Given the description of an element on the screen output the (x, y) to click on. 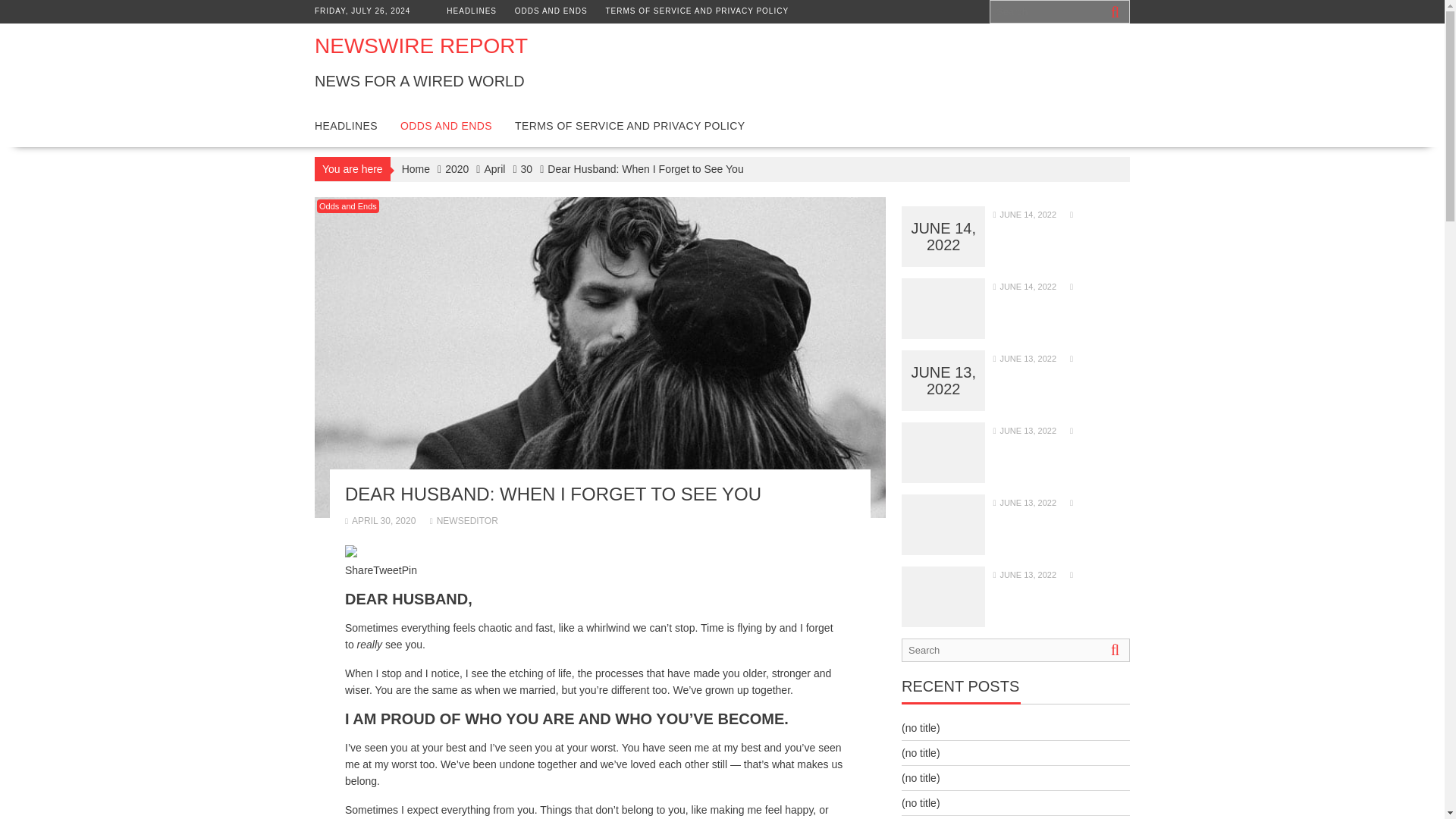
TERMS OF SERVICE AND PRIVACY POLICY (697, 10)
2020 (456, 168)
April (494, 168)
Share (358, 570)
ODDS AND ENDS (551, 10)
NEWSWIRE REPORT (420, 45)
TERMS OF SERVICE AND PRIVACY POLICY (629, 125)
HEADLINES (345, 125)
APRIL 30, 2020 (379, 520)
NEWSEDITOR (463, 520)
HEADLINES (471, 10)
Pin (408, 570)
Odds and Ends (347, 205)
ODDS AND ENDS (445, 125)
Tweet (386, 570)
